Given the description of an element on the screen output the (x, y) to click on. 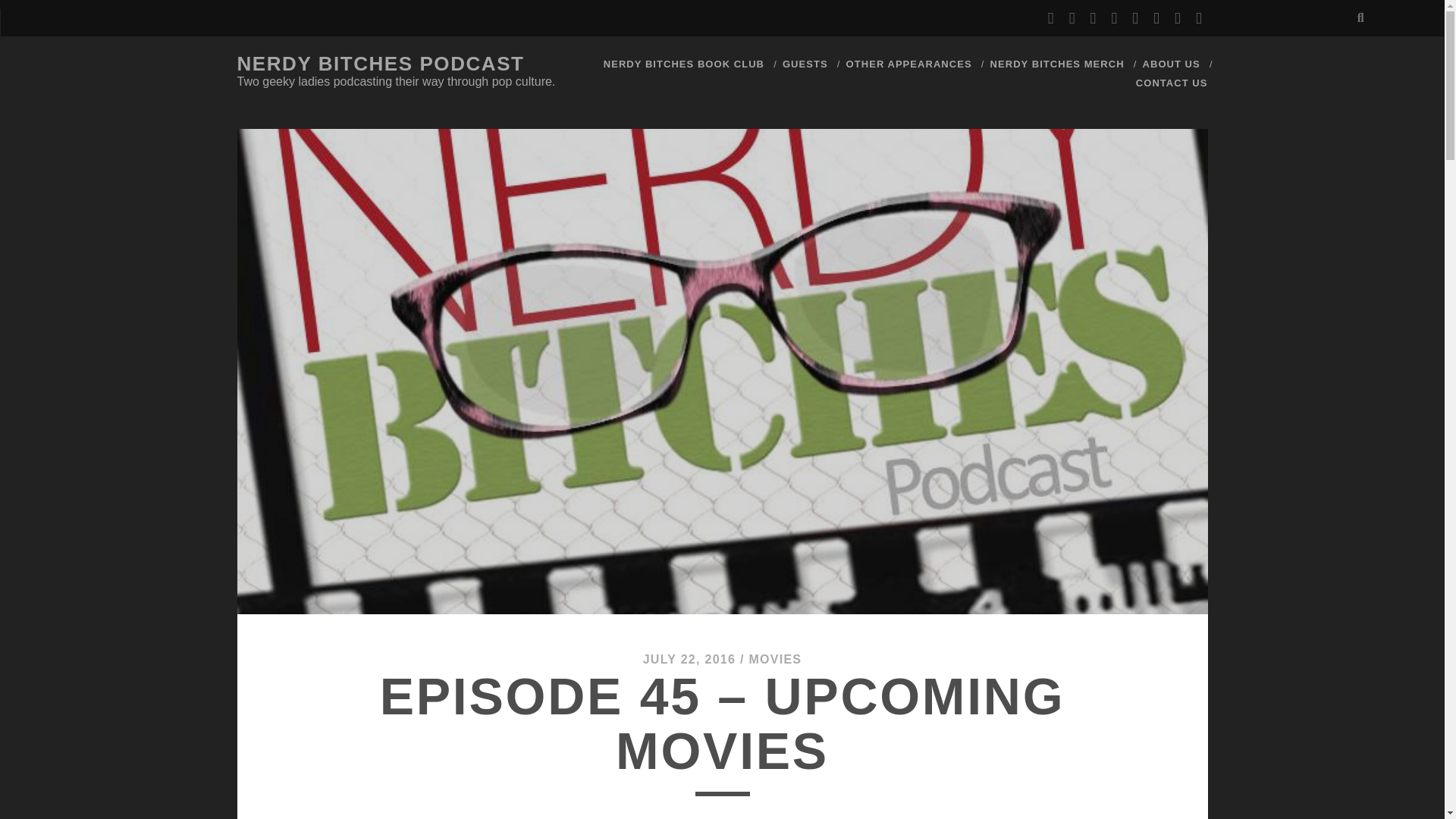
OTHER APPEARANCES (908, 64)
MOVIES (775, 658)
GUESTS (805, 64)
CONTACT US (1171, 83)
ABOUT US (1170, 64)
NERDY BITCHES MERCH (1057, 64)
NERDY BITCHES PODCAST (379, 63)
NERDY BITCHES BOOK CLUB (684, 64)
